Given the description of an element on the screen output the (x, y) to click on. 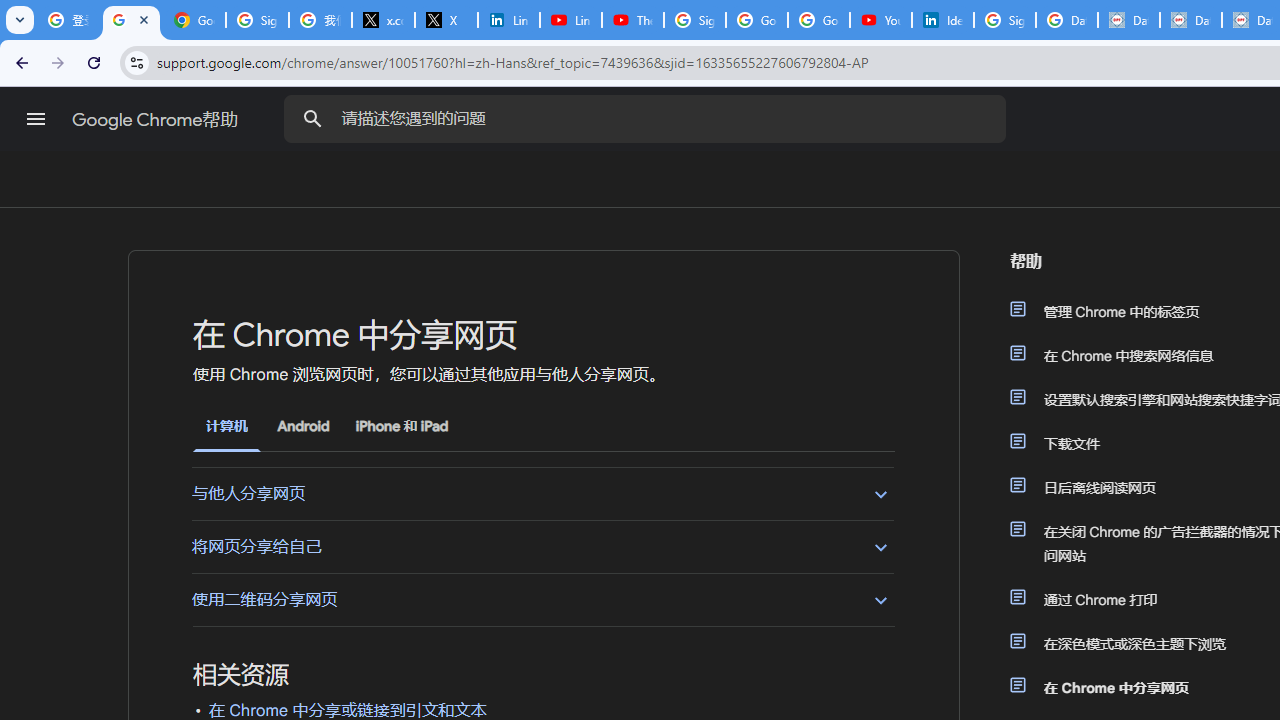
Data Privacy Framework (1128, 20)
Sign in - Google Accounts (694, 20)
Android (303, 426)
